Given the description of an element on the screen output the (x, y) to click on. 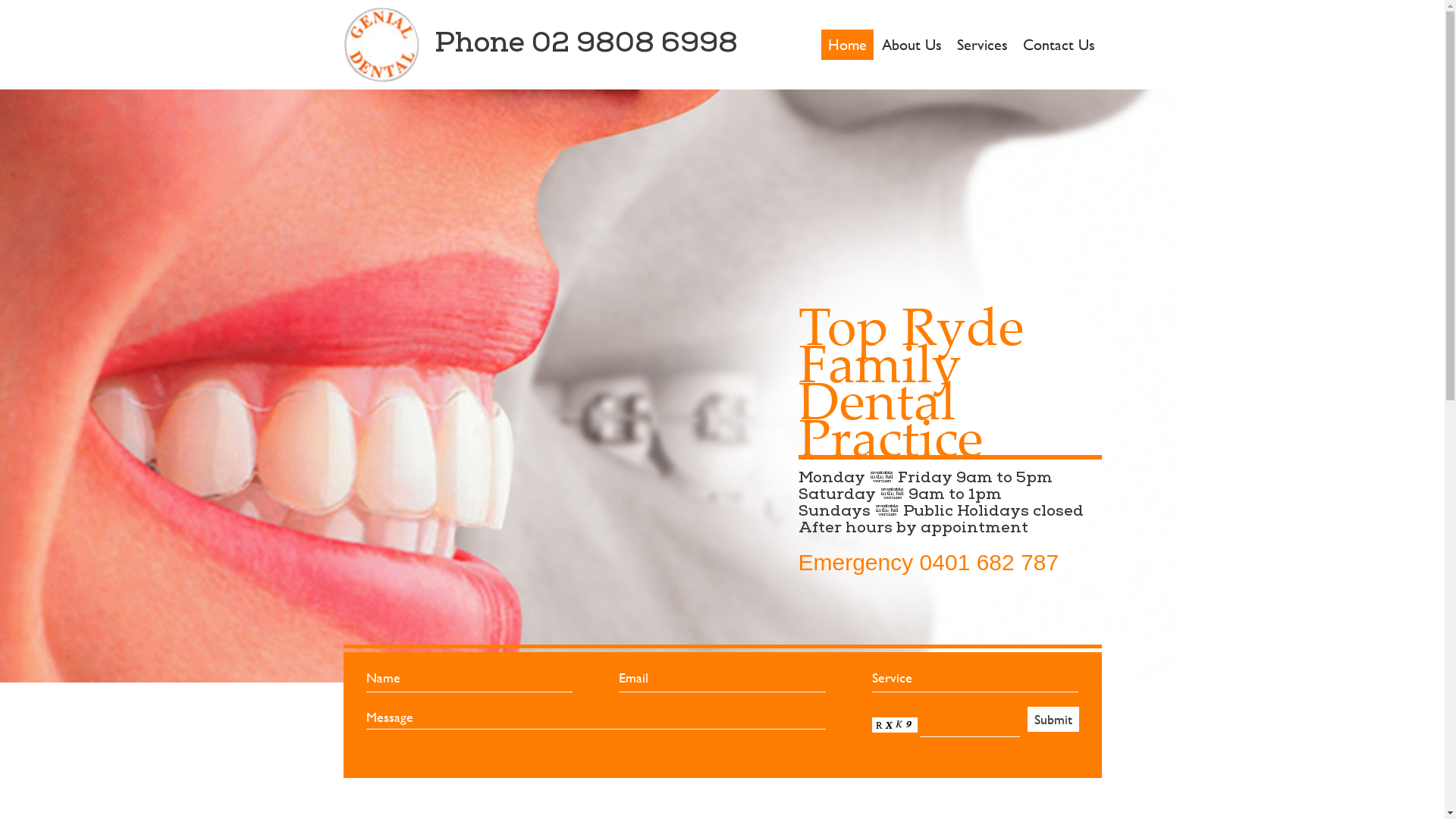
About Us Element type: text (911, 44)
Top Ryde Family Dental Practice Element type: hover (380, 44)
0401 682 787 Element type: text (989, 561)
Home Element type: text (846, 44)
02 9808 6998 Element type: text (633, 45)
Contact Us Element type: text (1058, 44)
Submit Element type: text (1052, 718)
Services Element type: text (981, 44)
